Given the description of an element on the screen output the (x, y) to click on. 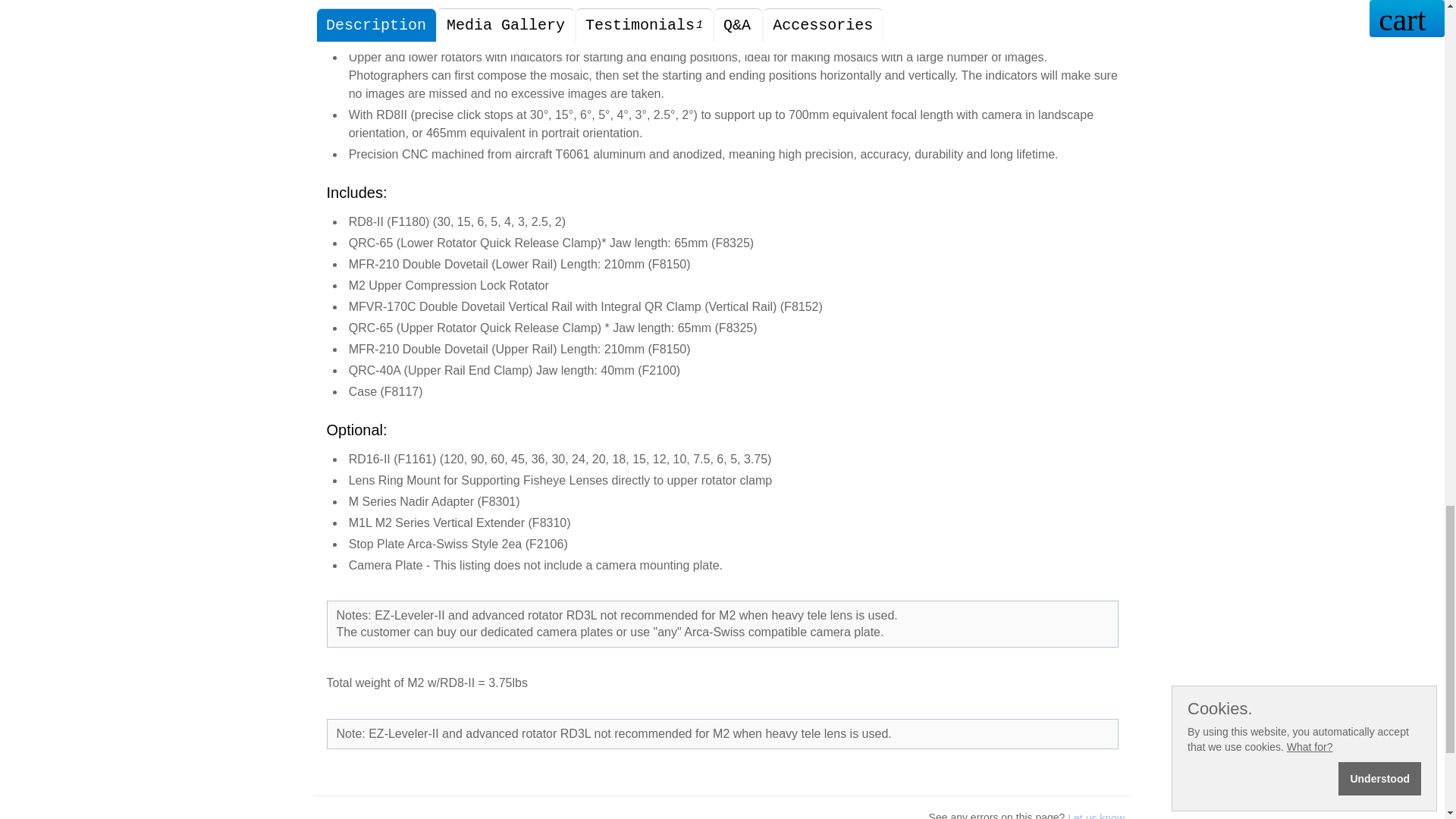
Let us know (1095, 815)
